Given the description of an element on the screen output the (x, y) to click on. 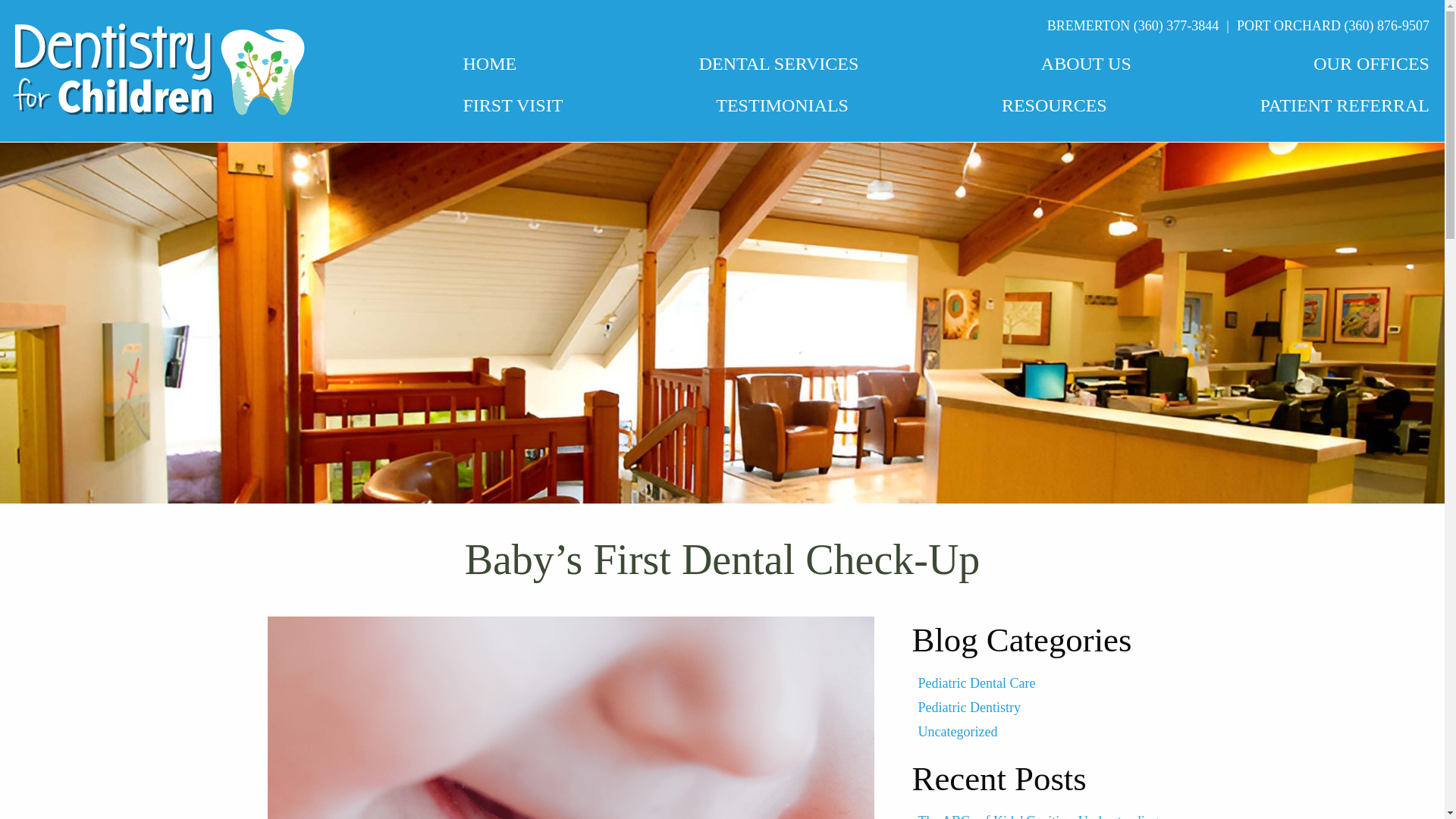
PATIENT REFERRAL (1344, 106)
OUR OFFICES (1371, 65)
DENTAL SERVICES (778, 65)
Pediatric Dentistry (968, 707)
TESTIMONIALS (782, 106)
FIRST VISIT (512, 106)
HOME (489, 64)
RESOURCES (1053, 106)
ABOUT US (1086, 64)
Pediatric Dental Care (976, 683)
